Given the description of an element on the screen output the (x, y) to click on. 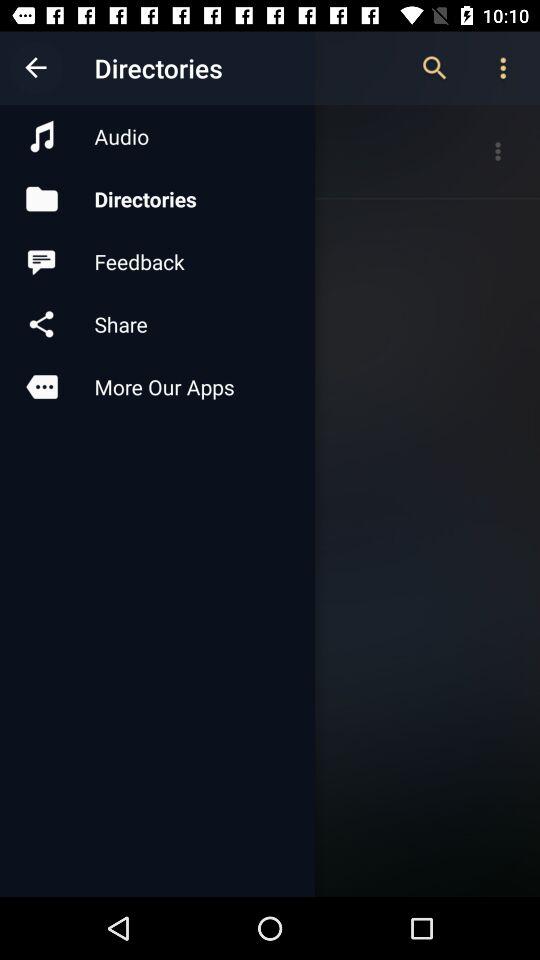
swipe until the audio icon (157, 136)
